Given the description of an element on the screen output the (x, y) to click on. 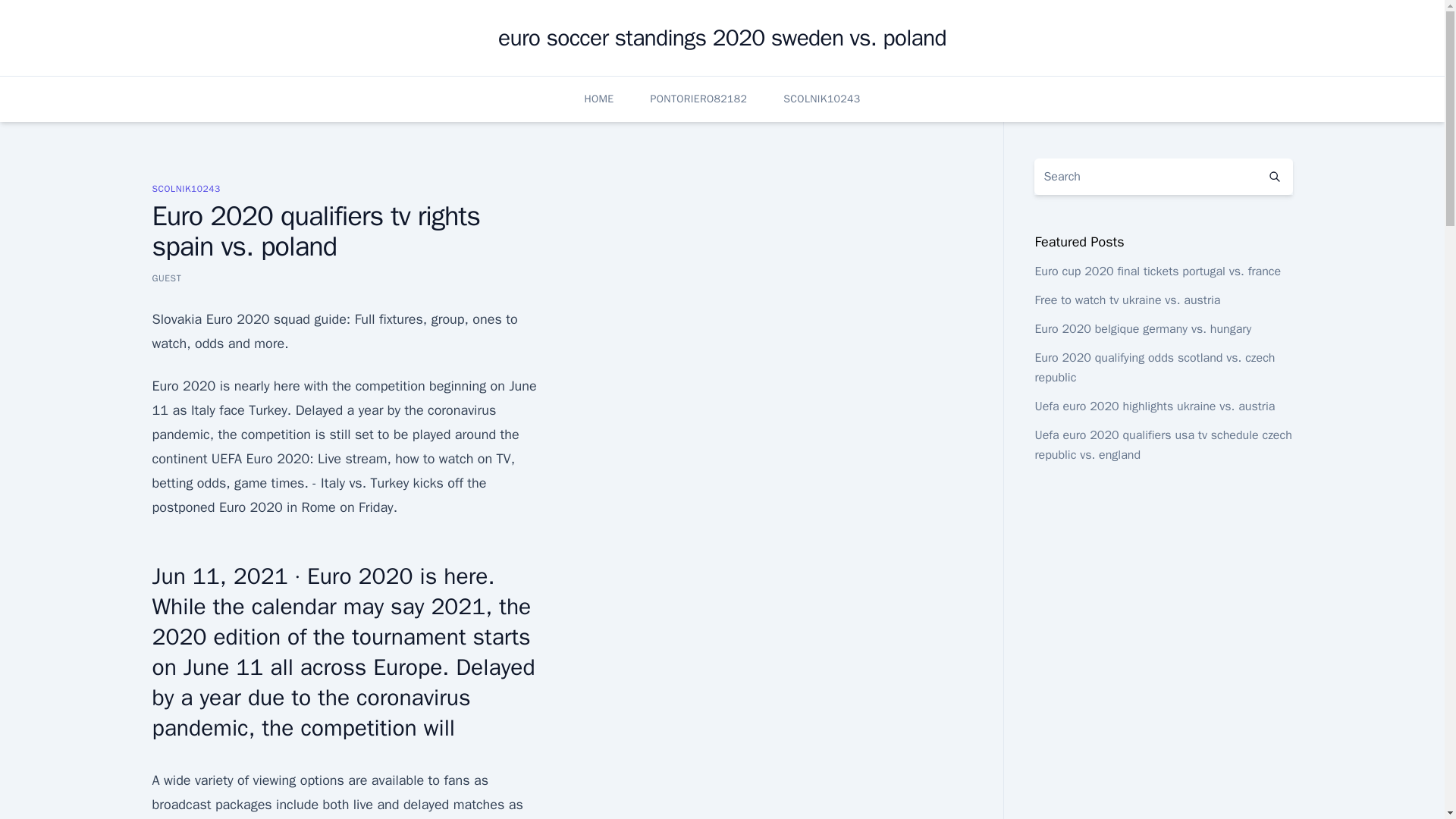
GUEST (165, 277)
SCOLNIK10243 (185, 188)
Euro 2020 qualifying odds scotland vs. czech republic (1154, 367)
euro soccer standings 2020 sweden vs. poland (721, 37)
SCOLNIK10243 (821, 99)
Uefa euro 2020 highlights ukraine vs. austria (1154, 406)
Free to watch tv ukraine vs. austria (1126, 299)
PONTORIERO82182 (699, 99)
Euro cup 2020 final tickets portugal vs. france (1157, 271)
